Given the description of an element on the screen output the (x, y) to click on. 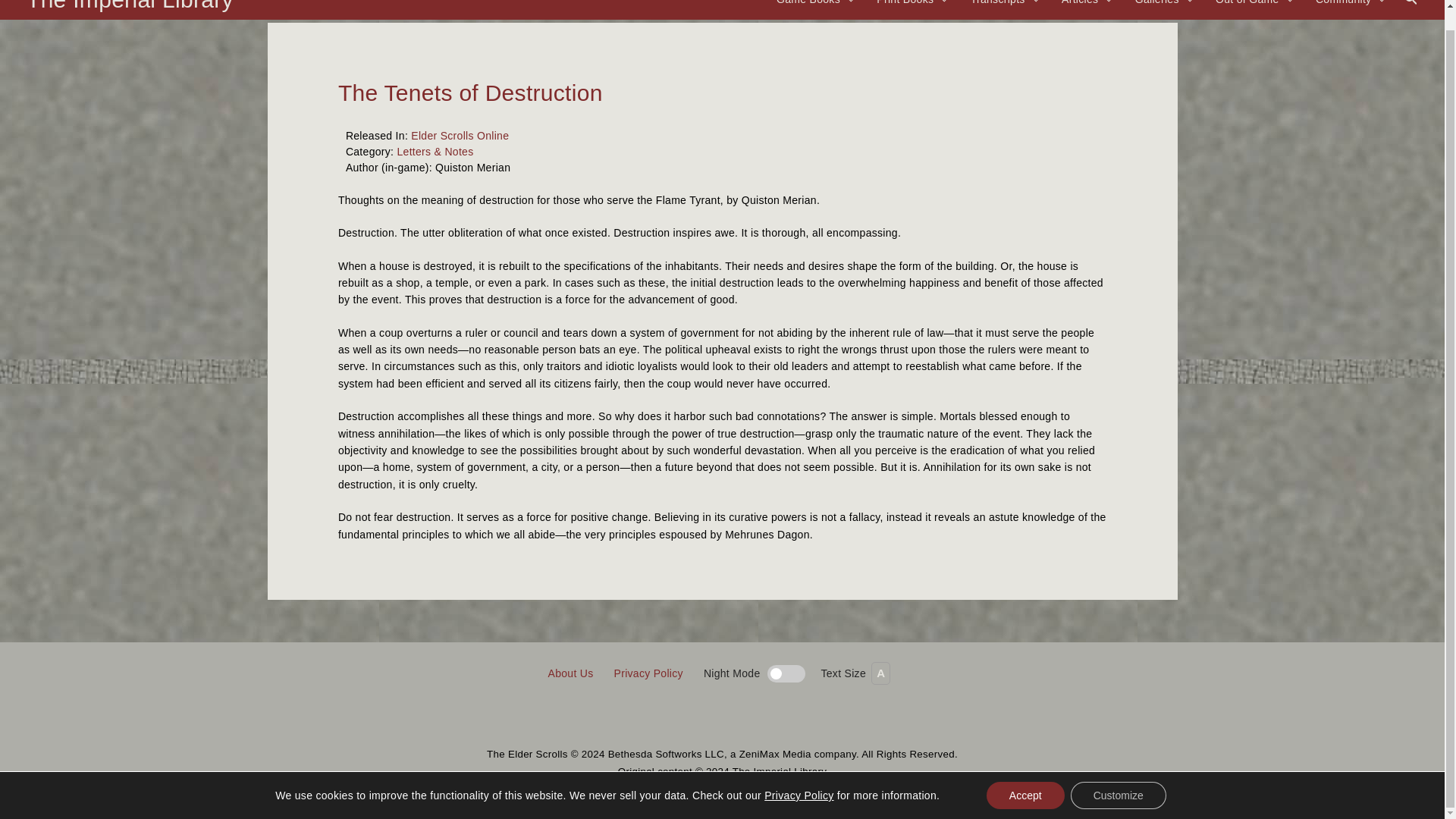
Game Books (815, 9)
Articles (1087, 9)
Transcripts (1004, 9)
Print Books (911, 9)
The Imperial Library (129, 6)
